Given the description of an element on the screen output the (x, y) to click on. 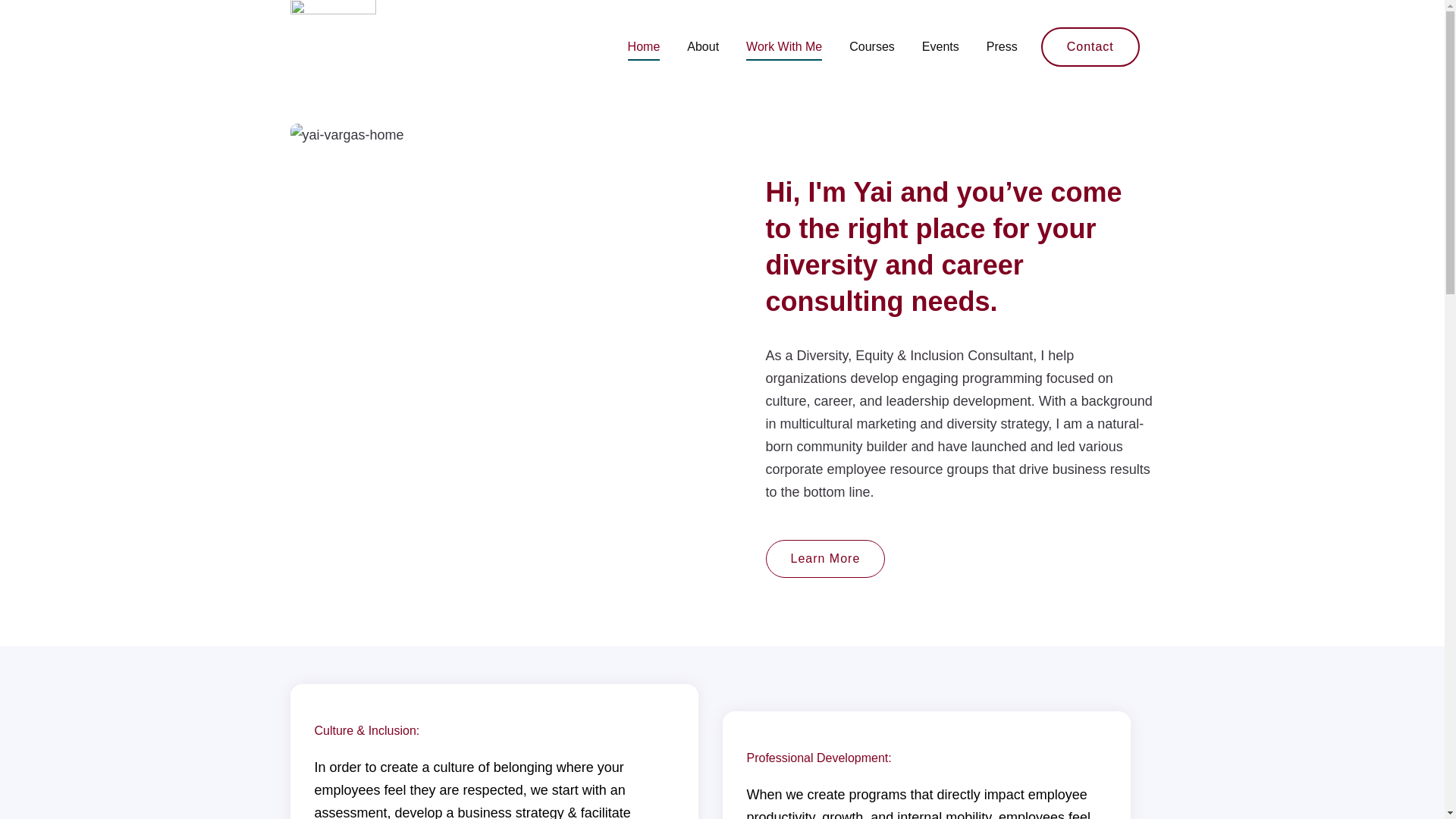
Home (644, 46)
Courses (871, 46)
Professional Development: (818, 757)
Work With Me (783, 46)
Contact (1090, 46)
Events (940, 46)
About (703, 46)
Learn More (825, 558)
Press (1002, 46)
